Given the description of an element on the screen output the (x, y) to click on. 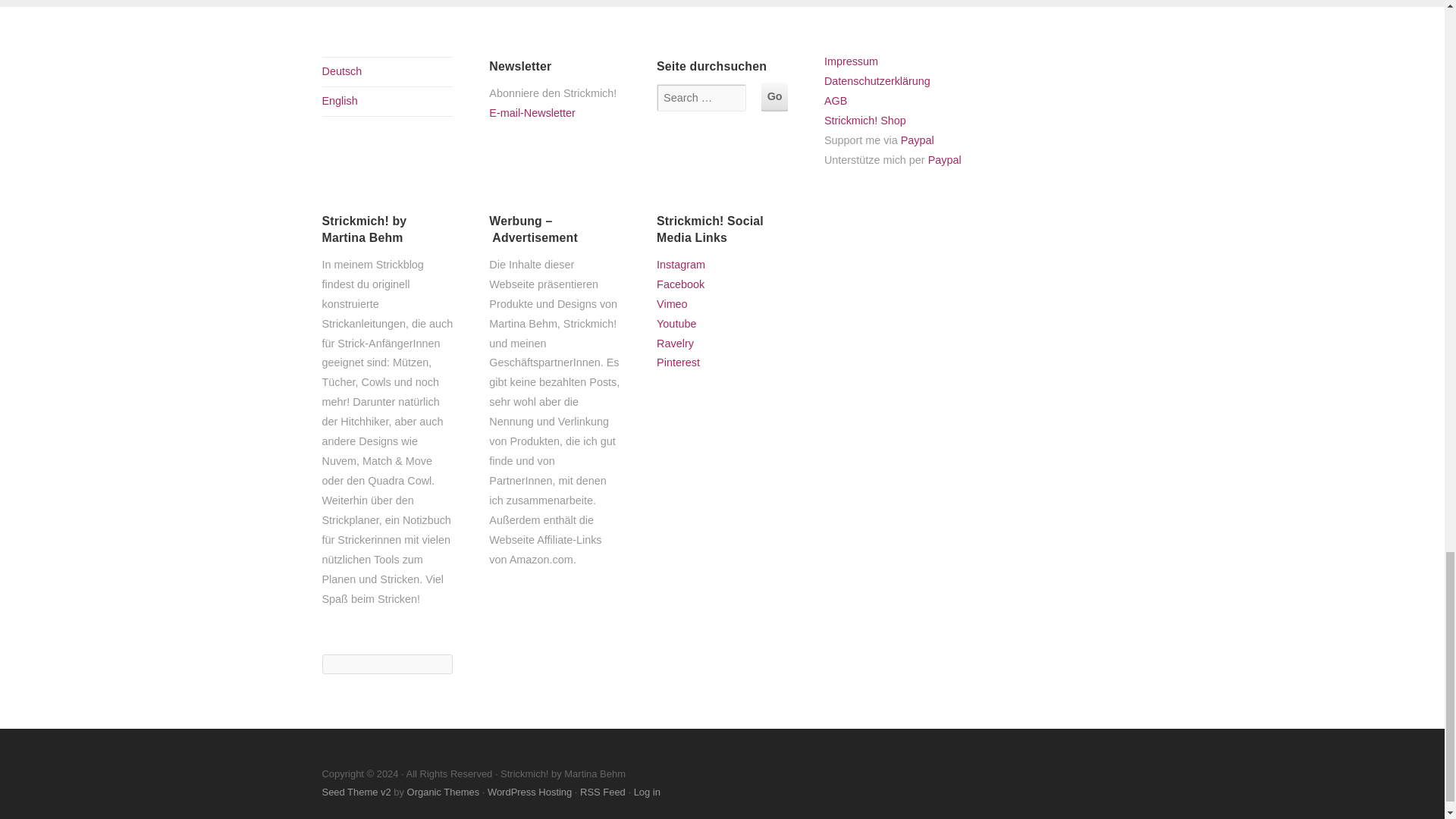
Deutsch (341, 70)
Impressum (850, 61)
English (338, 101)
Go (774, 95)
E-mail-Newsletter (552, 122)
WordPress Hosting (529, 791)
Deutsch (341, 70)
Go (774, 95)
English (338, 101)
